Given the description of an element on the screen output the (x, y) to click on. 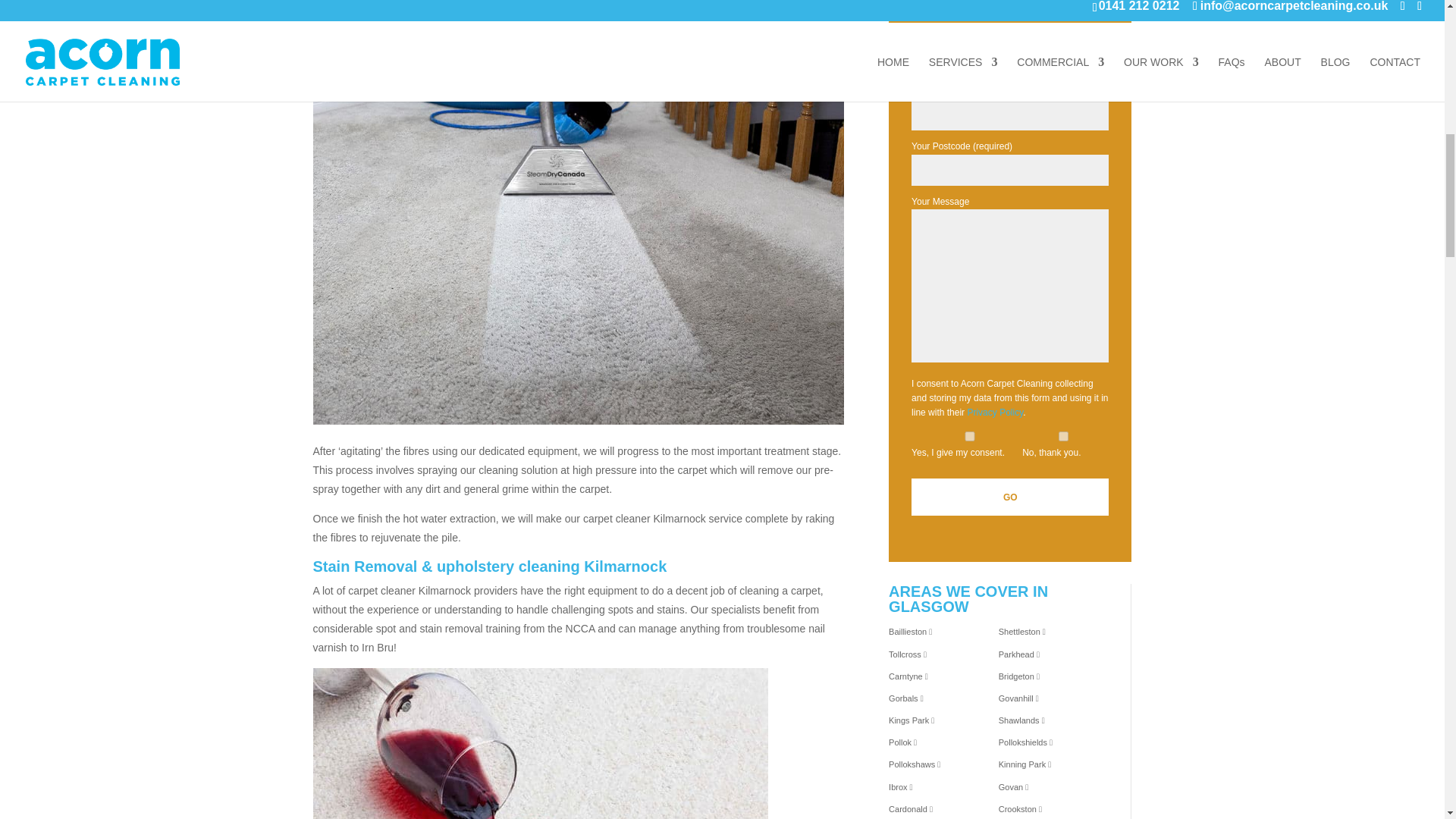
GO (1009, 496)
Yes, I give my consent. (969, 436)
No, thank you. (1063, 436)
